Given the description of an element on the screen output the (x, y) to click on. 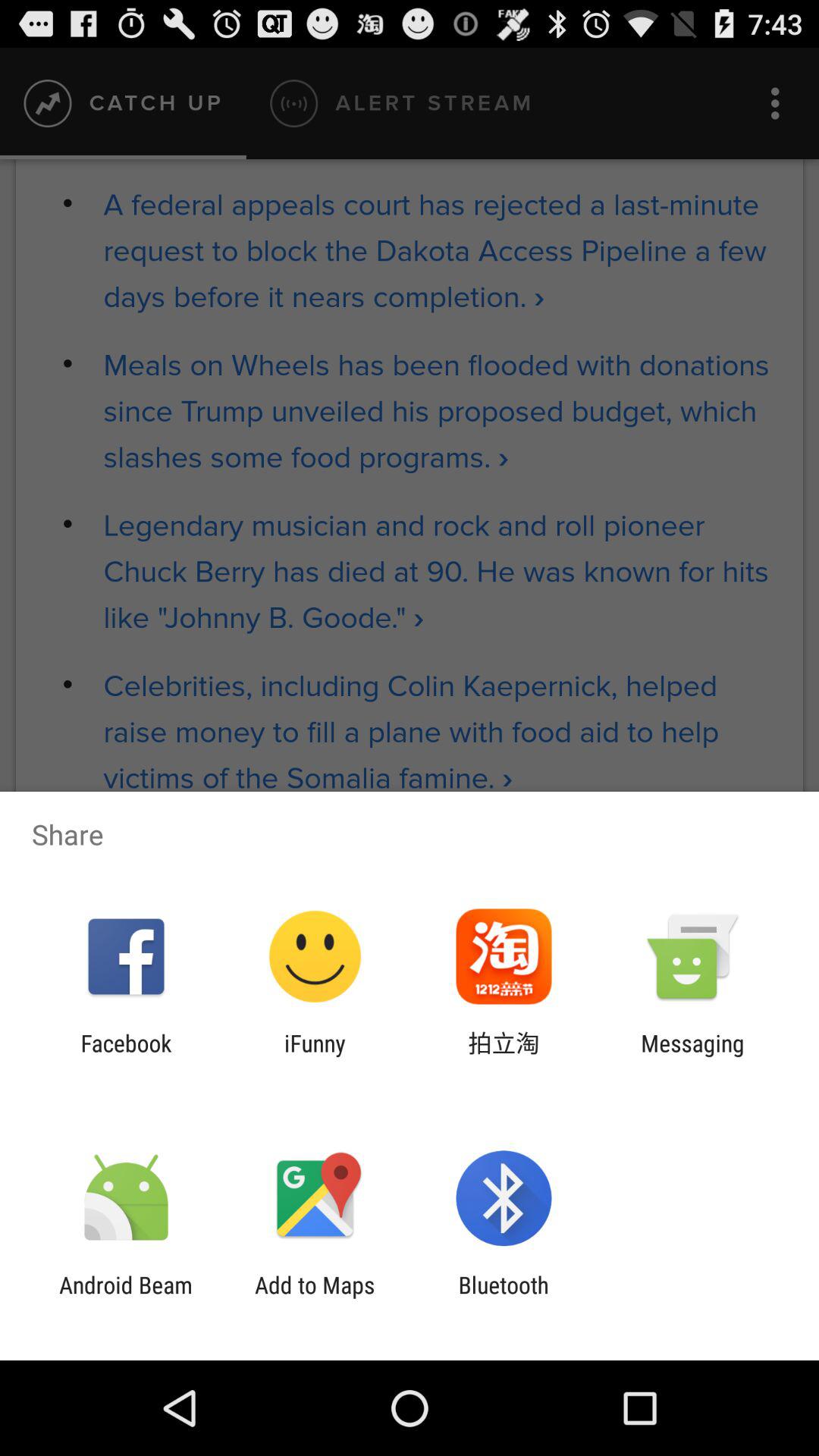
launch the ifunny item (314, 1056)
